Given the description of an element on the screen output the (x, y) to click on. 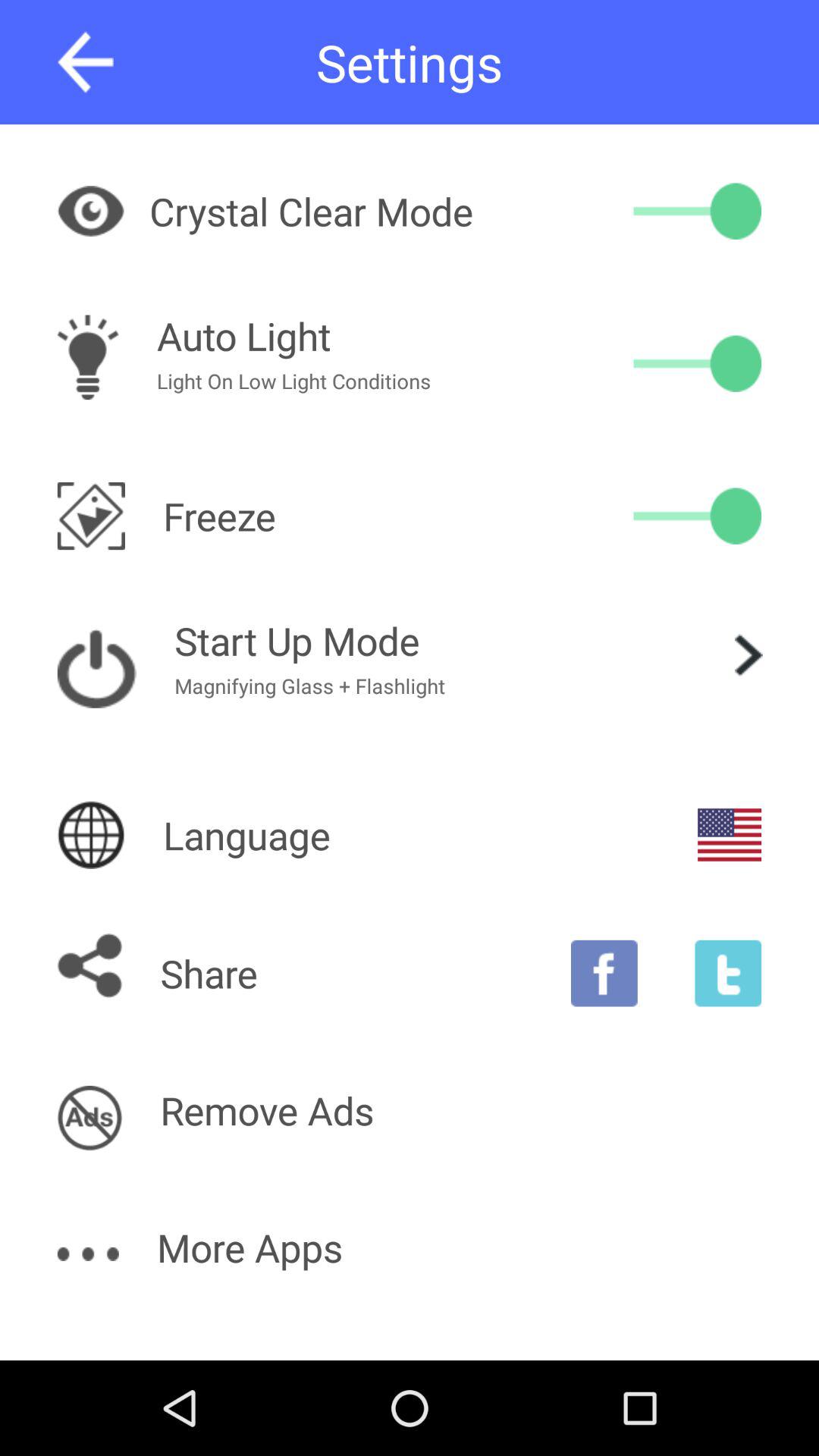
go back (85, 62)
